Given the description of an element on the screen output the (x, y) to click on. 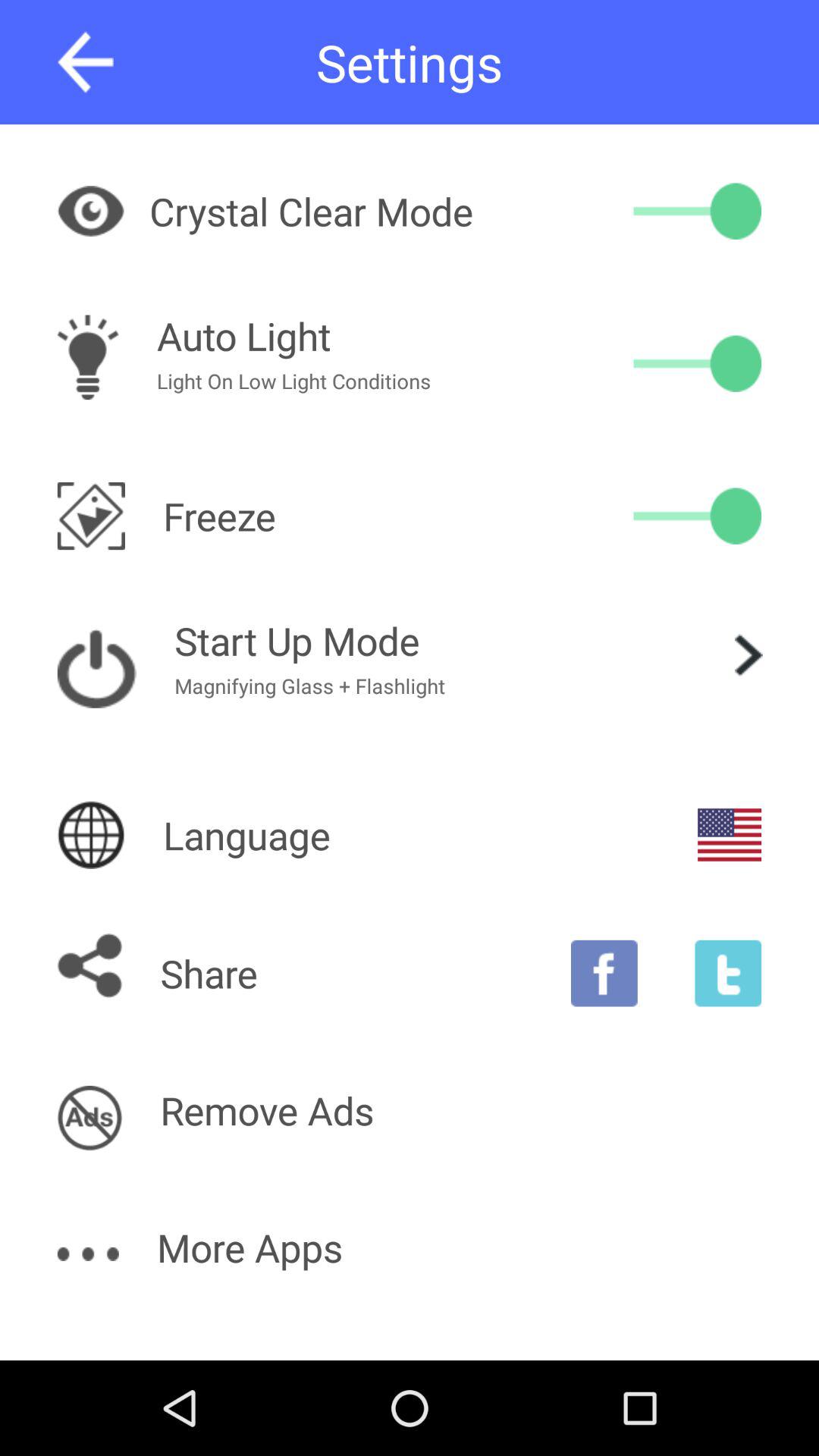
go back (85, 62)
